Given the description of an element on the screen output the (x, y) to click on. 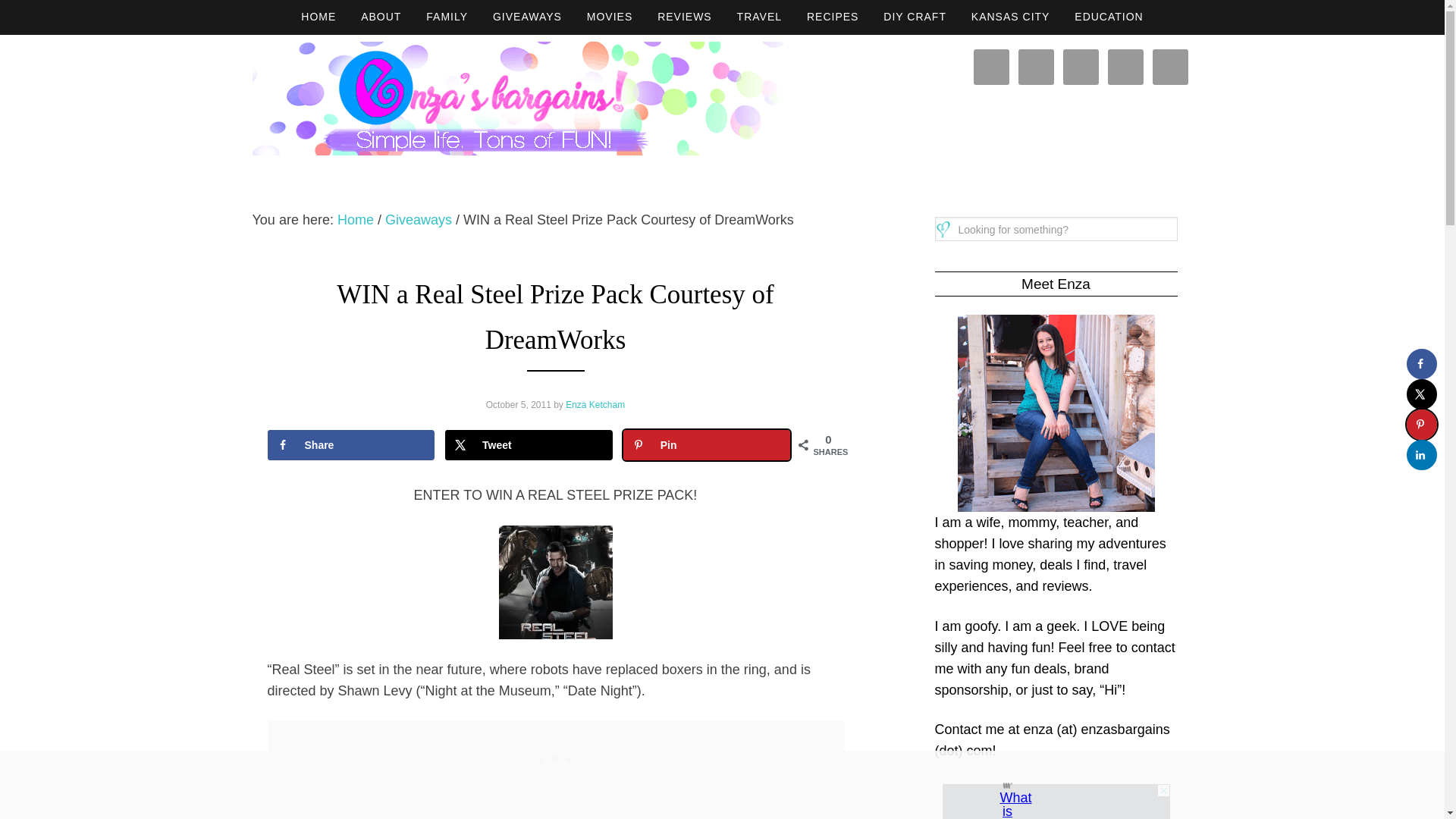
Save to Pinterest (706, 444)
GIVEAWAYS (526, 17)
Share on X (1421, 394)
FAMILY (446, 17)
Share on X (528, 444)
ENZA'S BARGAINS (517, 98)
MOVIES (609, 17)
TRAVEL (759, 17)
Save to Pinterest (1421, 424)
3rd party ad content (555, 755)
KANSAS CITY (1010, 17)
3rd party ad content (1055, 801)
Enza Ketcham (595, 403)
RECIPES (832, 17)
Home (355, 219)
